Given the description of an element on the screen output the (x, y) to click on. 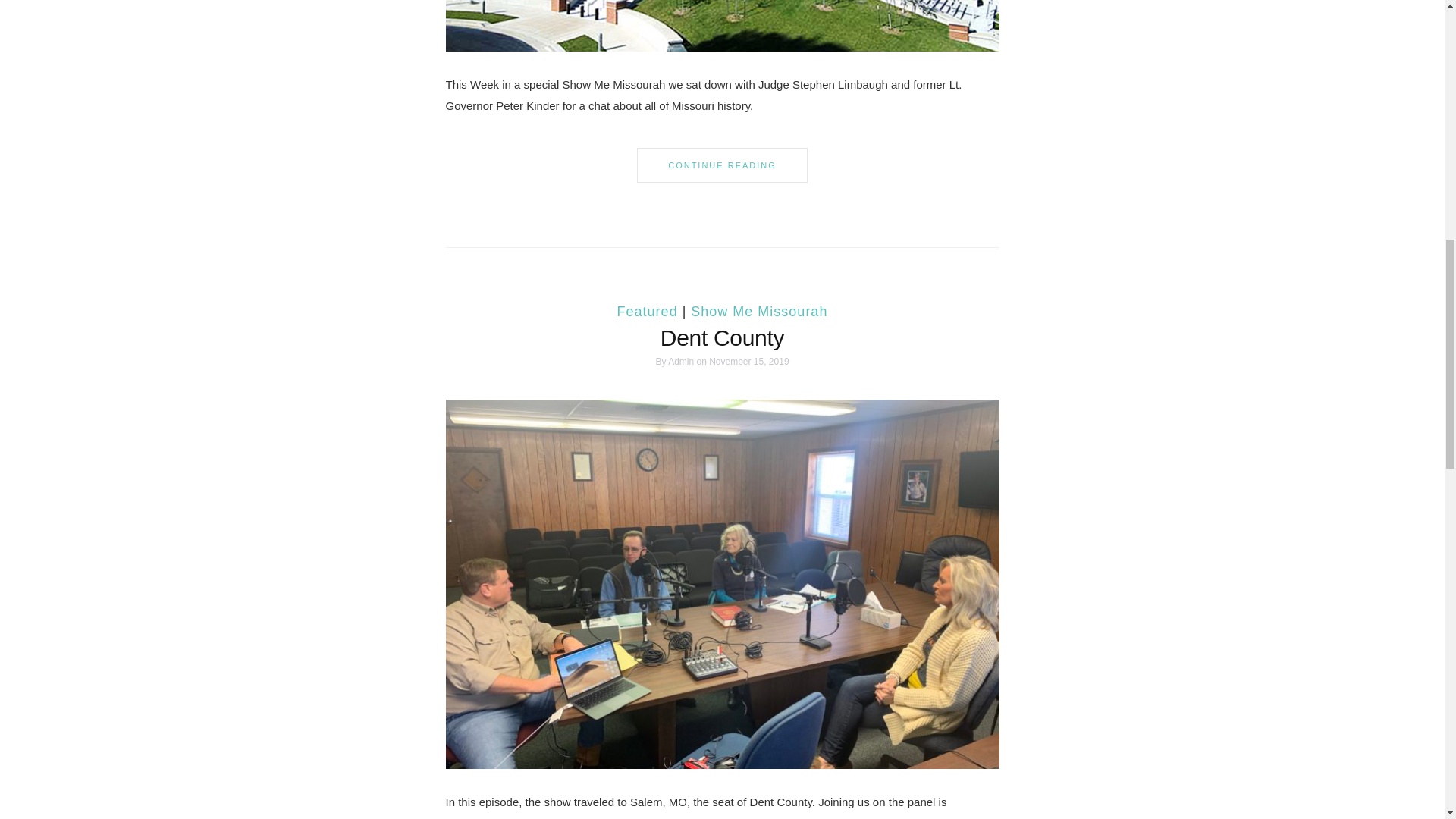
Show Me Missourah (758, 311)
Posts by Admin (681, 361)
Featured (647, 311)
Dent County (721, 582)
Dent County (722, 337)
Admin (681, 361)
CONTINUE READING (722, 165)
